Given the description of an element on the screen output the (x, y) to click on. 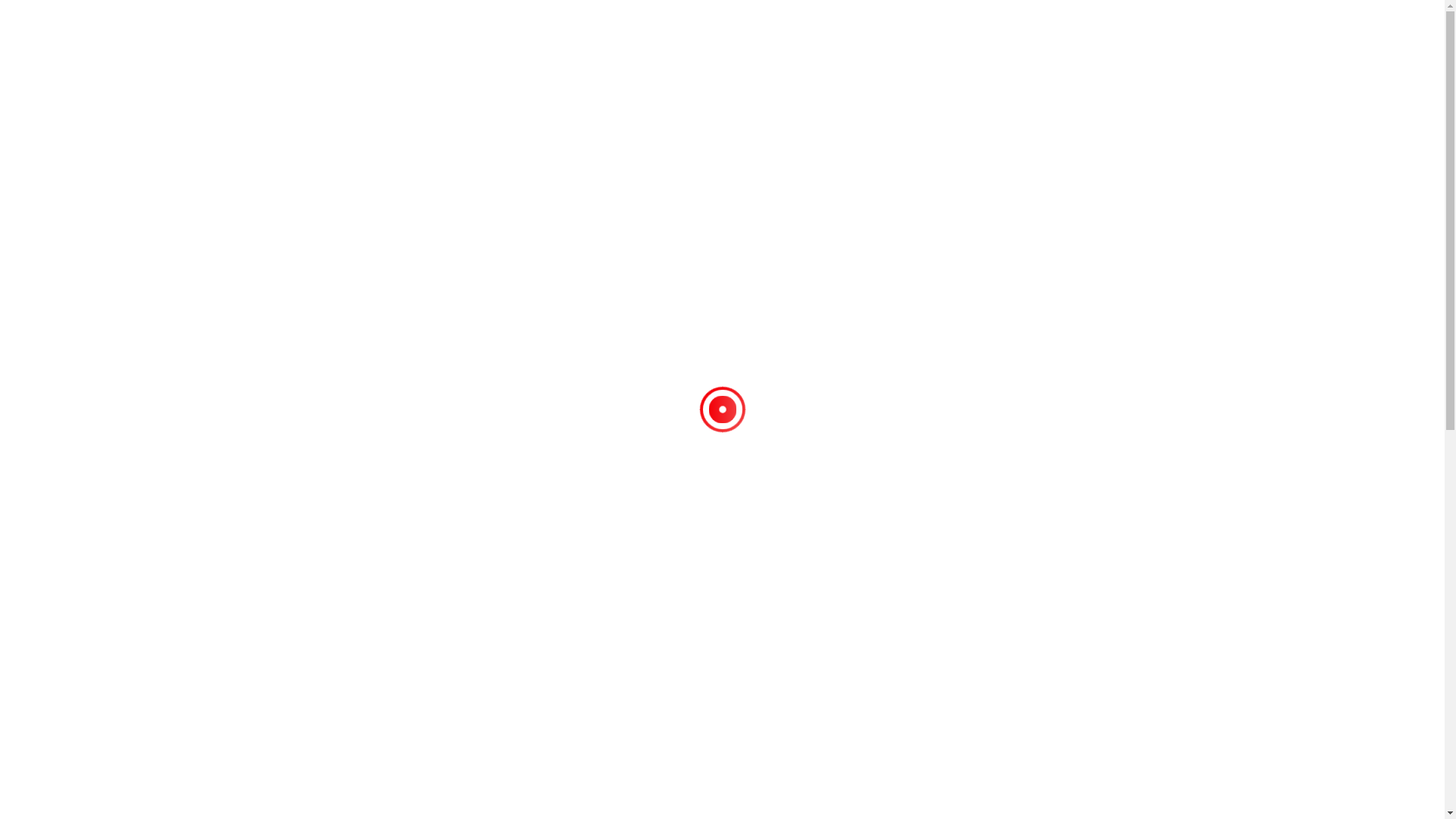
Ik snap het! Element type: text (126, 794)
Meer informatie Element type: text (61, 763)
HOME Element type: text (588, 36)
+32 (0)475 49 42 44 Element type: text (535, 447)
Mercedes-Benz 200 - Cabrio / 124 Element type: text (780, 154)
DREAM CARS Element type: text (742, 36)
Dream cars Element type: text (652, 154)
CONTACTEER ONS Element type: text (362, 447)
+32 (0)475 49 42 44 Element type: text (1081, 724)
+32 (0)475 49 42 44 Element type: text (1077, 38)
OVER ONS Element type: text (891, 36)
BUDGET CARS Element type: text (656, 36)
VERKOCHT Element type: text (820, 36)
Home Element type: text (593, 154)
CONTACT Element type: text (960, 36)
